Given the description of an element on the screen output the (x, y) to click on. 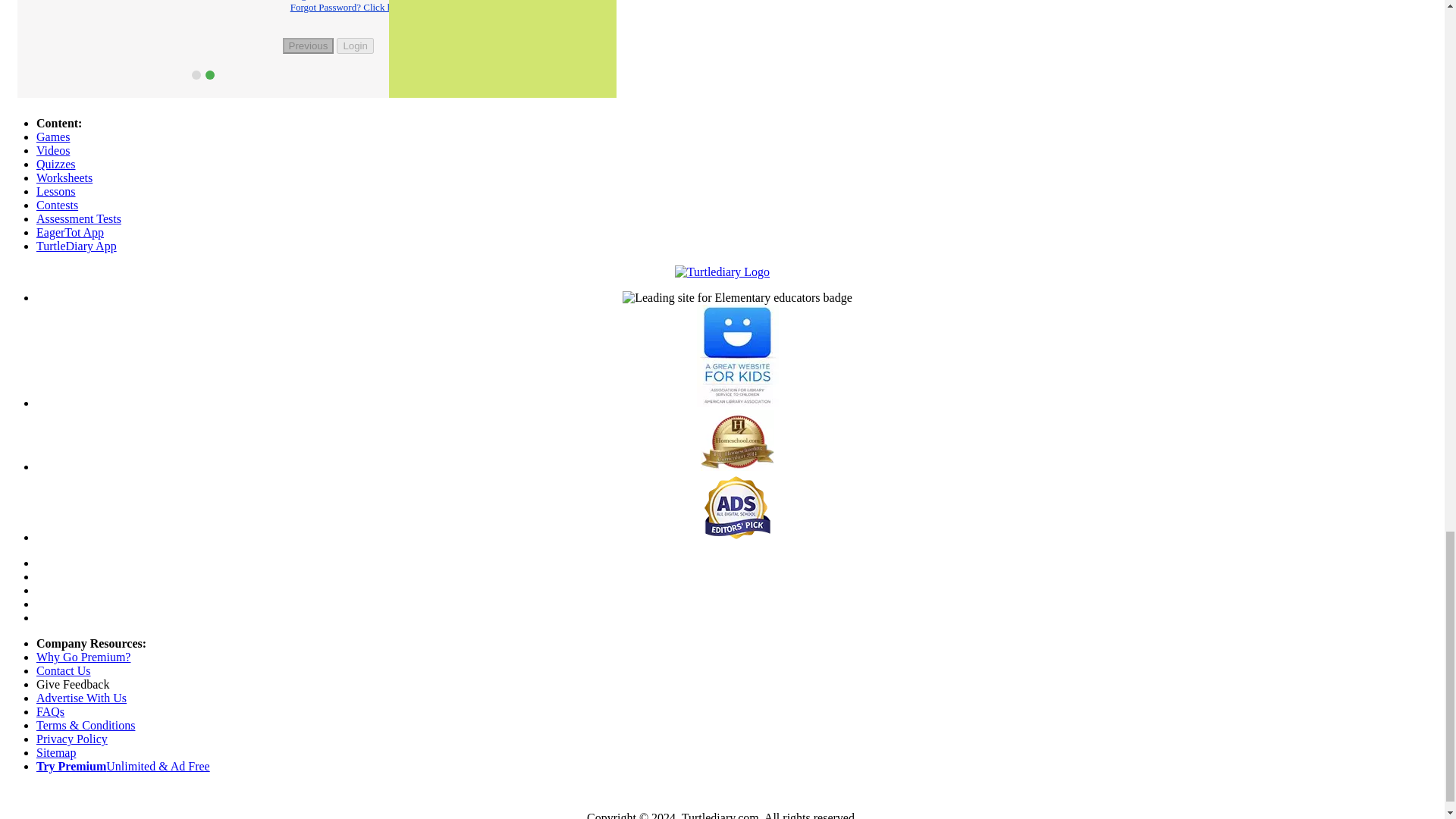
Forgot Password? (233, 7)
